Given the description of an element on the screen output the (x, y) to click on. 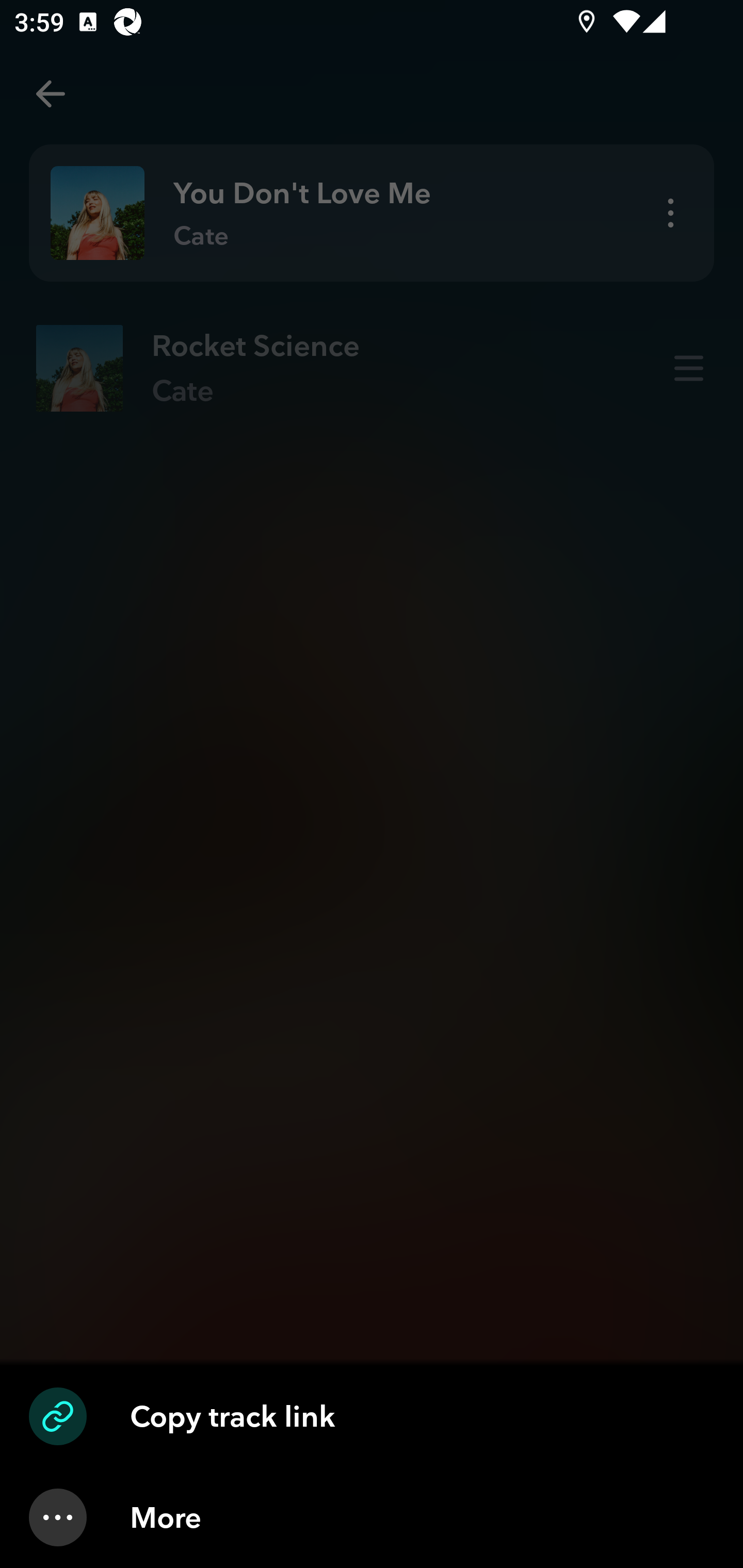
Copy track link (371, 1416)
More (371, 1517)
